Given the description of an element on the screen output the (x, y) to click on. 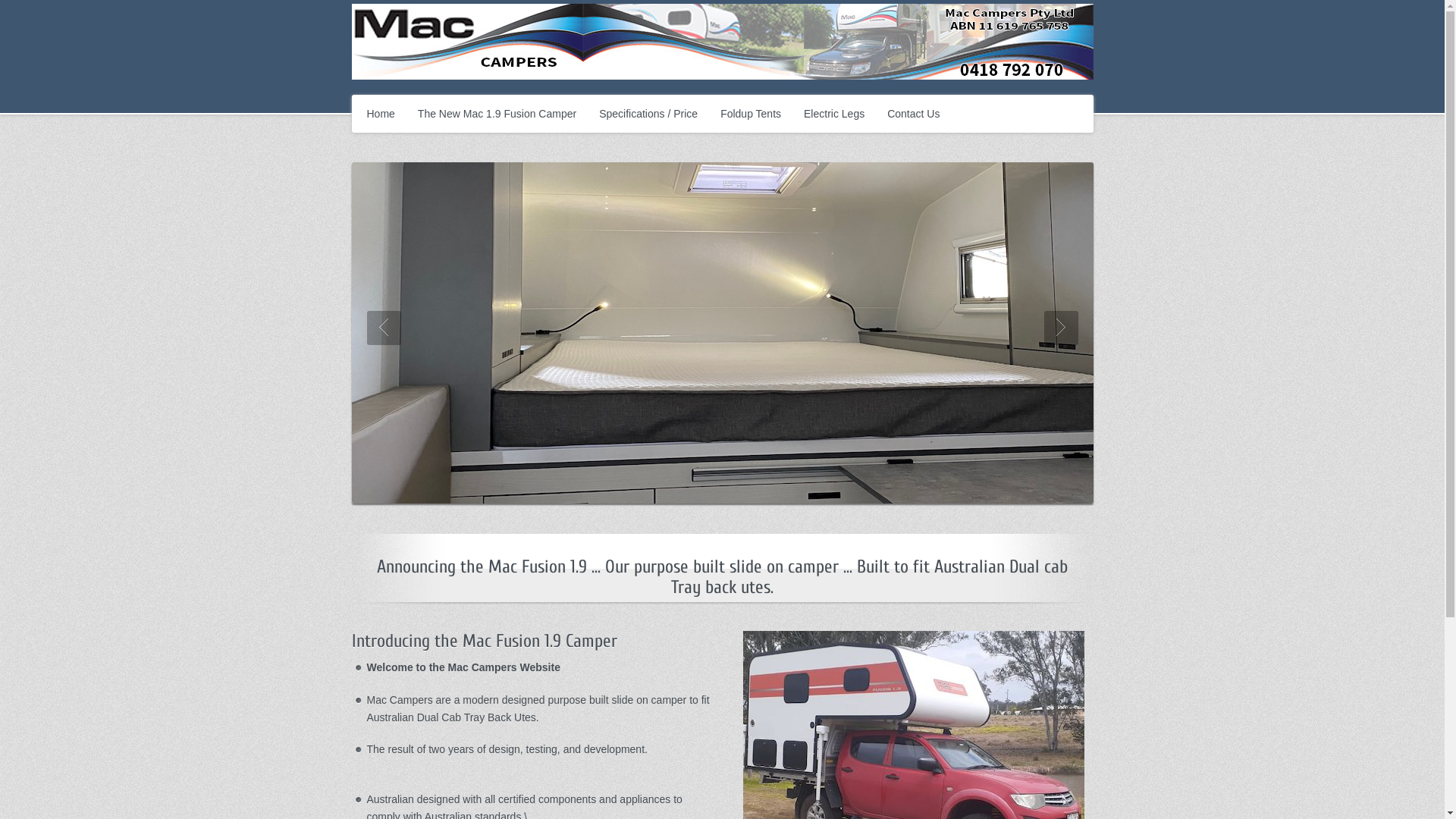
Foldup Tents Element type: text (750, 113)
Home Element type: text (380, 113)
Specifications / Price Element type: text (648, 113)
The New Mac 1.9 Fusion Camper Element type: text (496, 113)
Contact Us Element type: text (913, 113)
Skip to primary content Element type: text (367, 97)
Electric Legs Element type: text (834, 113)
